Given the description of an element on the screen output the (x, y) to click on. 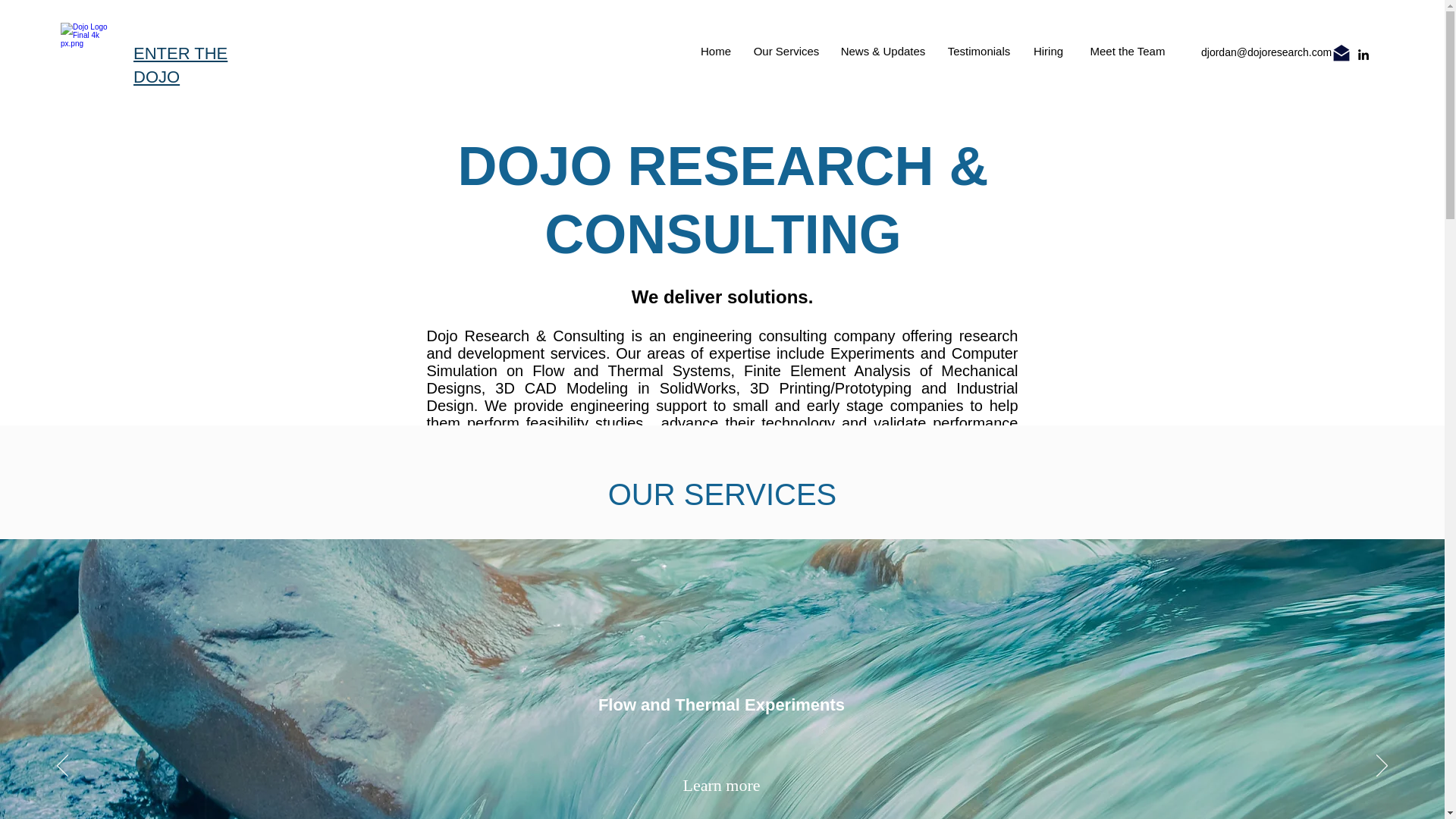
Our Services (785, 51)
ENTER THE DOJO (180, 65)
Learn more (721, 785)
Meet the Team (1127, 51)
Testimonials (979, 51)
Hiring (1048, 51)
Home (715, 51)
